Given the description of an element on the screen output the (x, y) to click on. 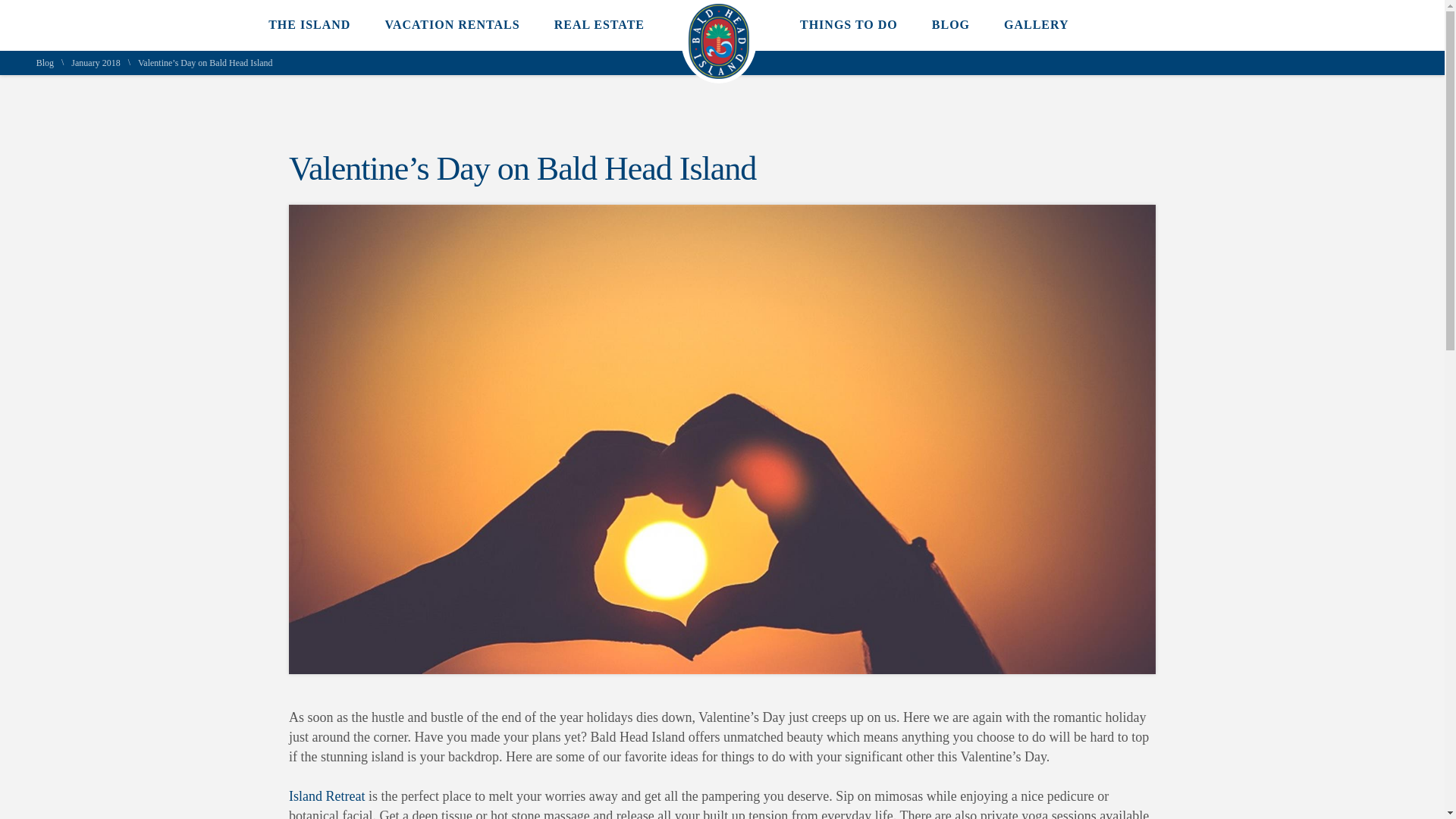
REAL ESTATE (599, 24)
Blog (44, 62)
Blog (44, 62)
THINGS TO DO (848, 24)
January 2018 (95, 62)
Bald Head Island Limited (718, 74)
January 2018 (95, 62)
The Island (308, 24)
Real Estate (599, 24)
